Given the description of an element on the screen output the (x, y) to click on. 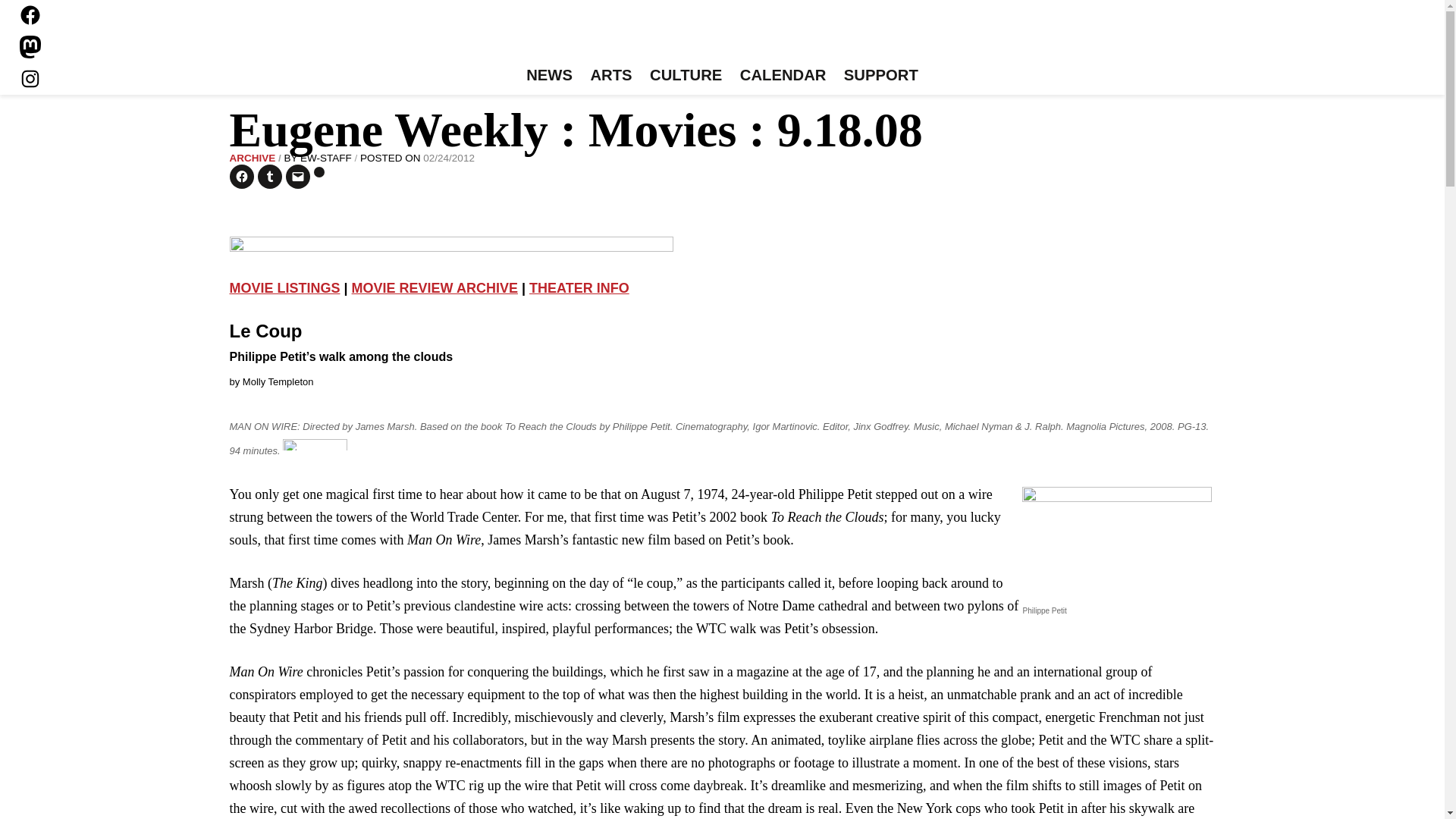
CULTURE (685, 75)
Mastodon (30, 47)
ARTS (611, 75)
Eugene Weekly (721, 37)
CALENDAR (782, 75)
Instagram (30, 78)
Click to share on Tumblr (269, 176)
Click to print (319, 172)
Facebook (30, 15)
Click to email a link to a friend (296, 176)
